Given the description of an element on the screen output the (x, y) to click on. 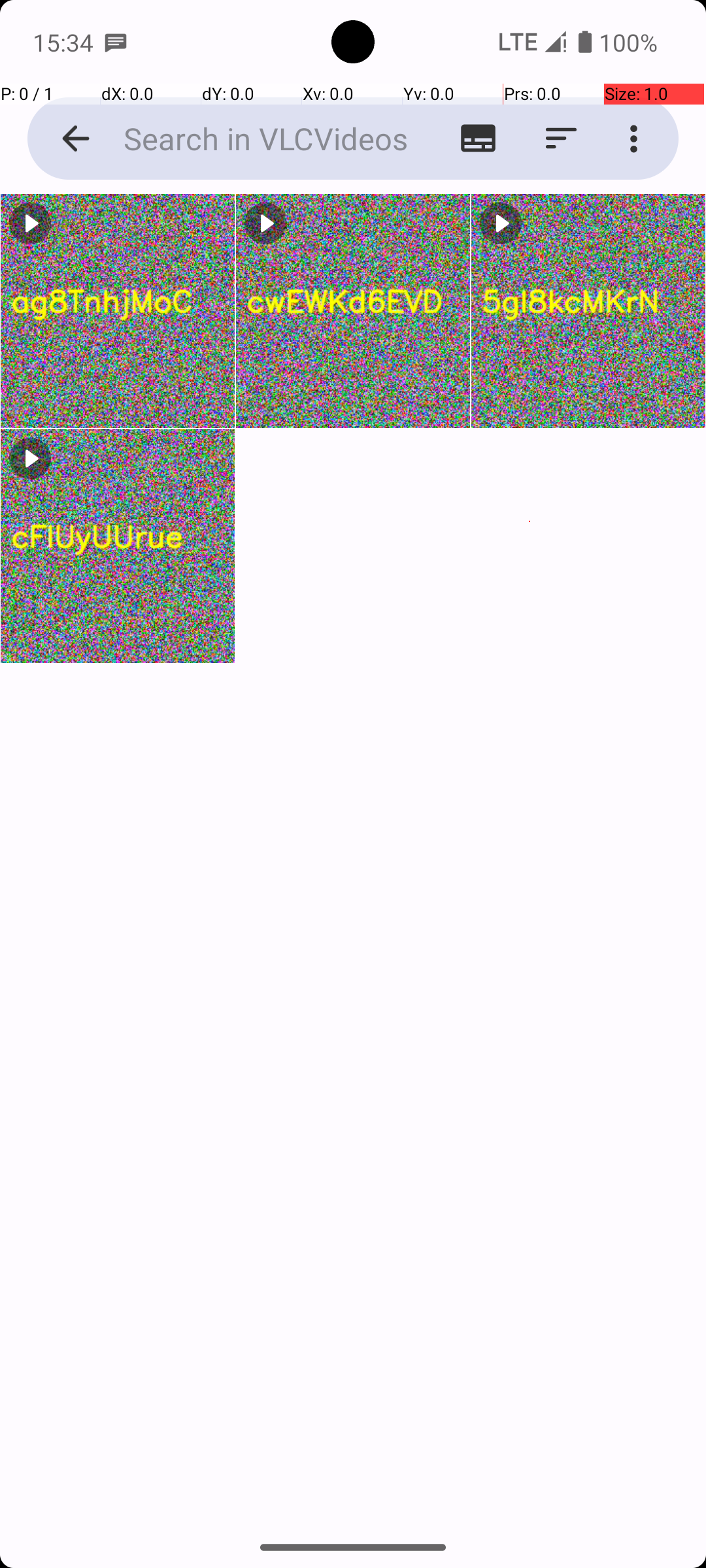
Search in VLCVideos Element type: android.widget.EditText (252, 138)
